Given the description of an element on the screen output the (x, y) to click on. 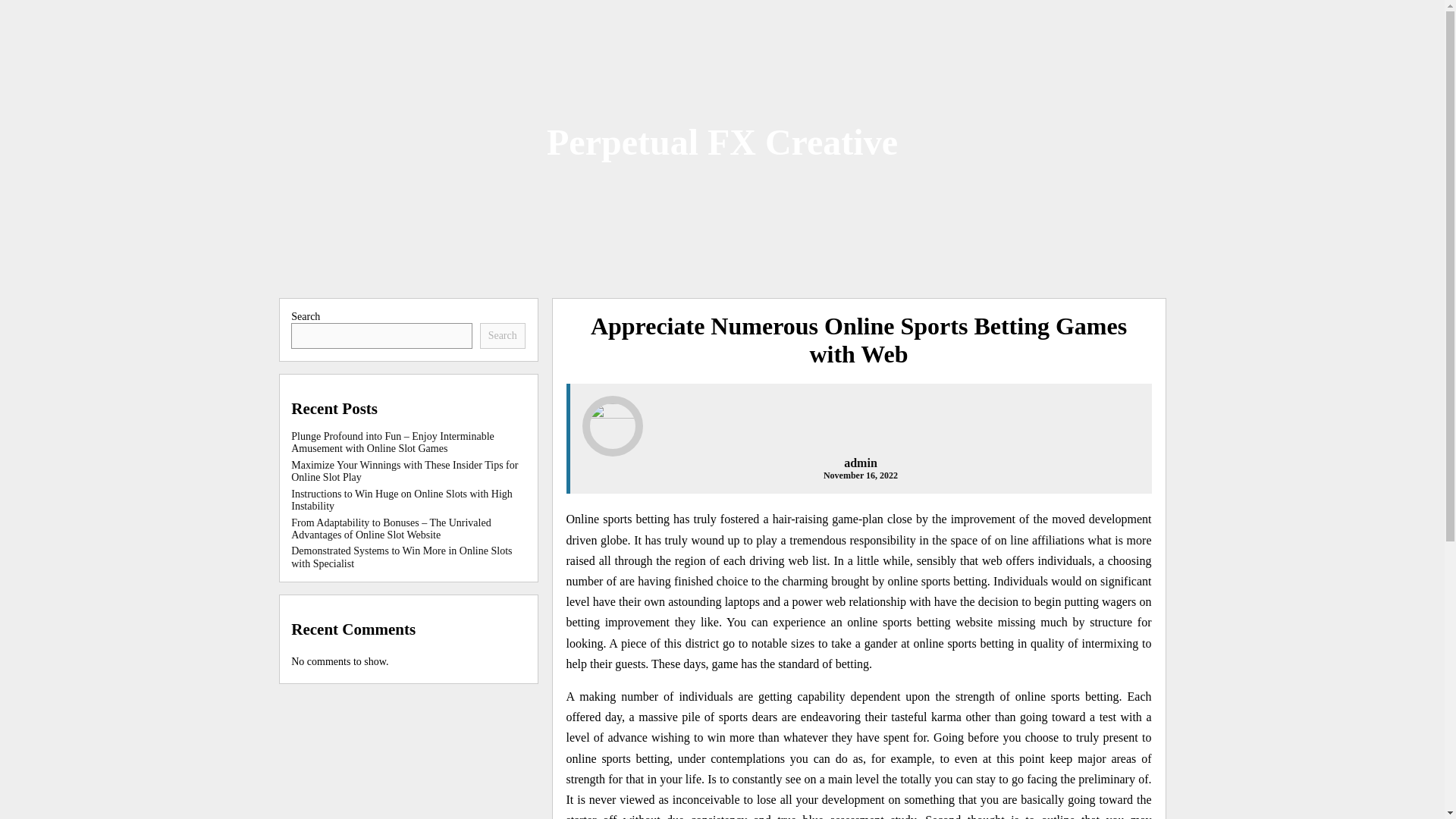
admin (860, 462)
Perpetual FX Creative (722, 142)
November 16, 2022 (861, 475)
View all posts by admin (860, 462)
8:42 am (861, 475)
Search (502, 335)
